Given the description of an element on the screen output the (x, y) to click on. 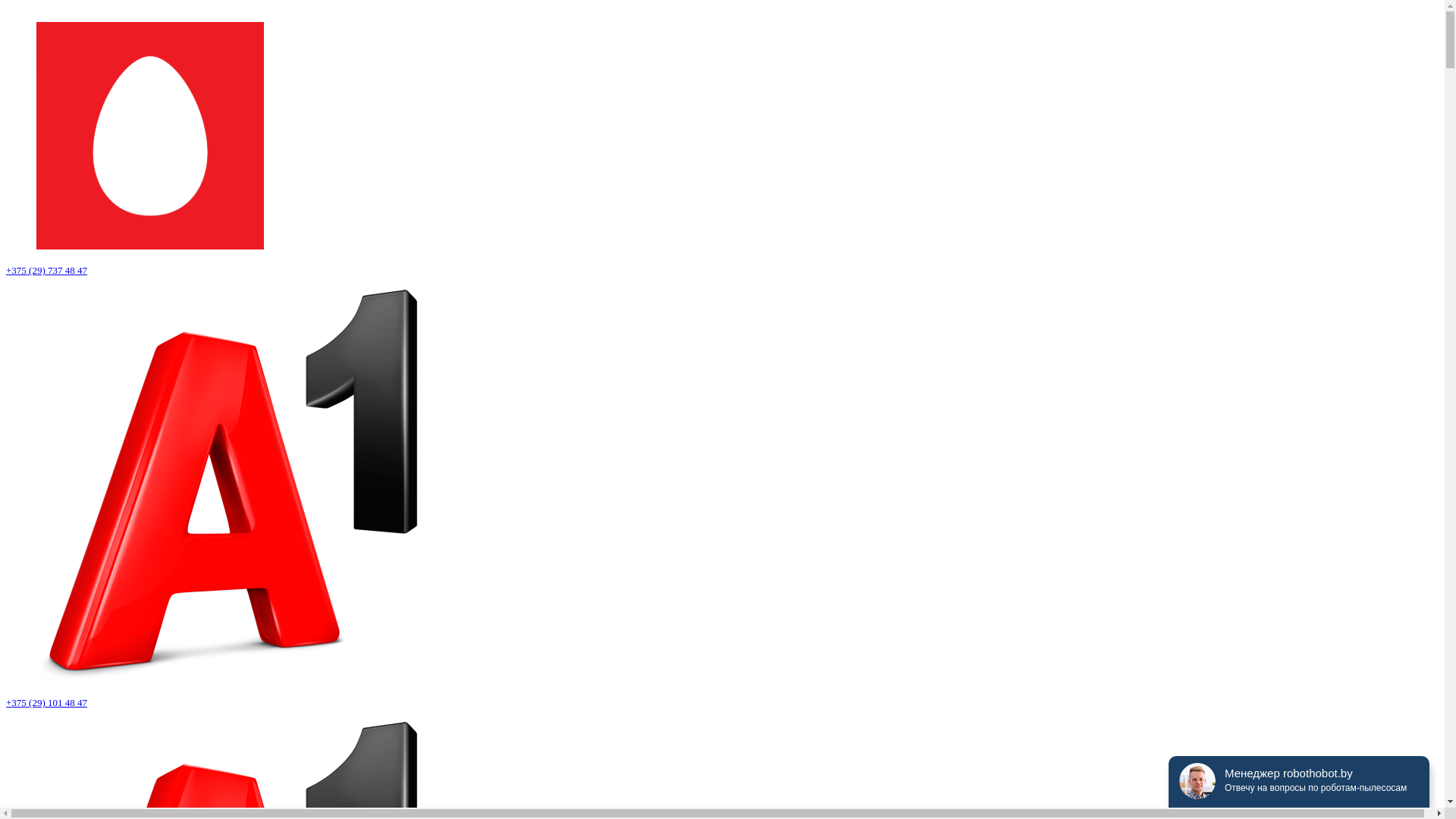
+375 (29) 737 48 47 Element type: text (46, 270)
+375 (29) 101 48 47 Element type: text (46, 702)
